Given the description of an element on the screen output the (x, y) to click on. 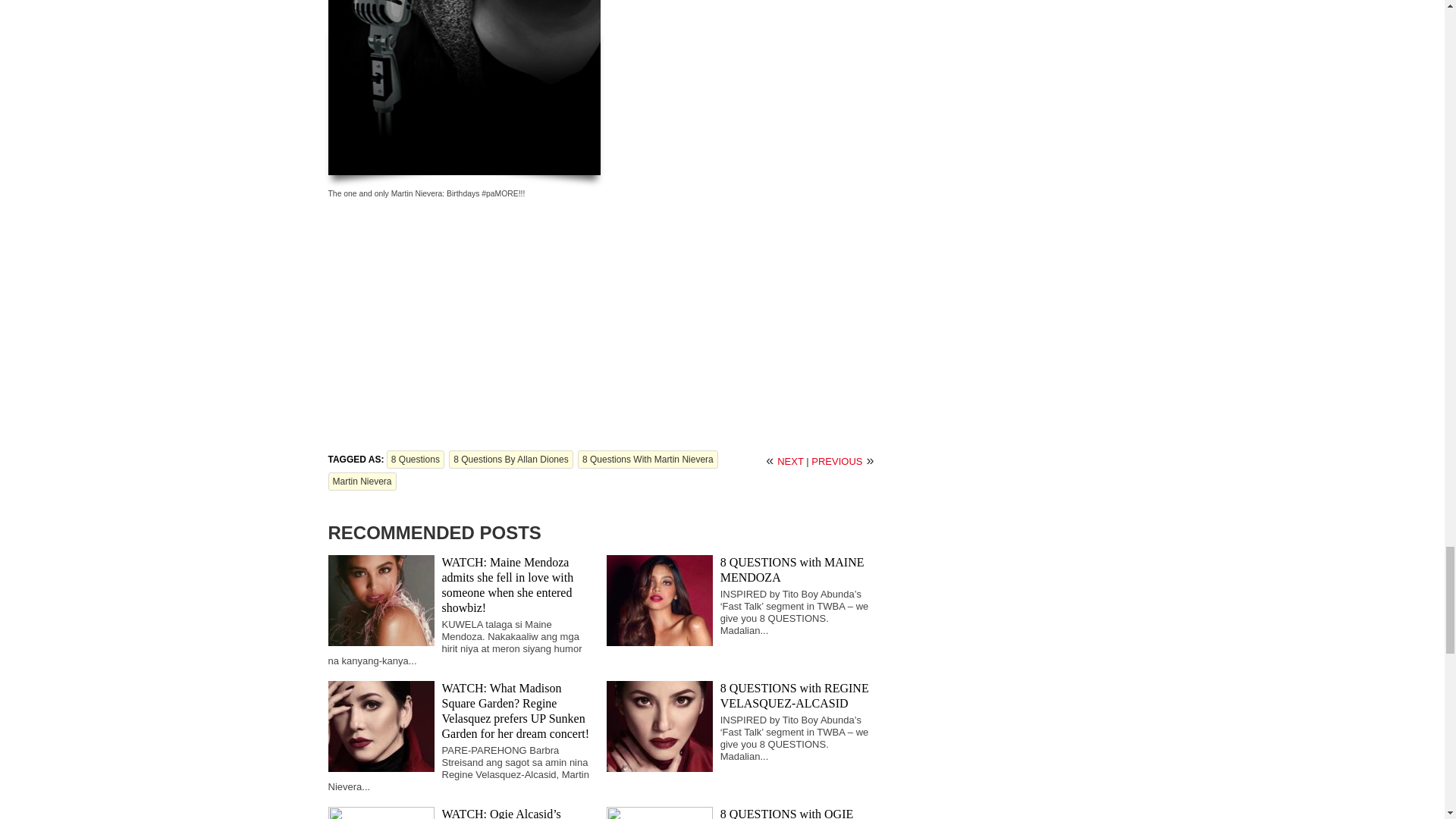
8 QUESTIONS with MAINE MENDOZA (792, 569)
8 QUESTIONS with REGINE VELASQUEZ-ALCASID (794, 695)
8 QUESTIONS with OGIE ALCASID (786, 813)
